Given the description of an element on the screen output the (x, y) to click on. 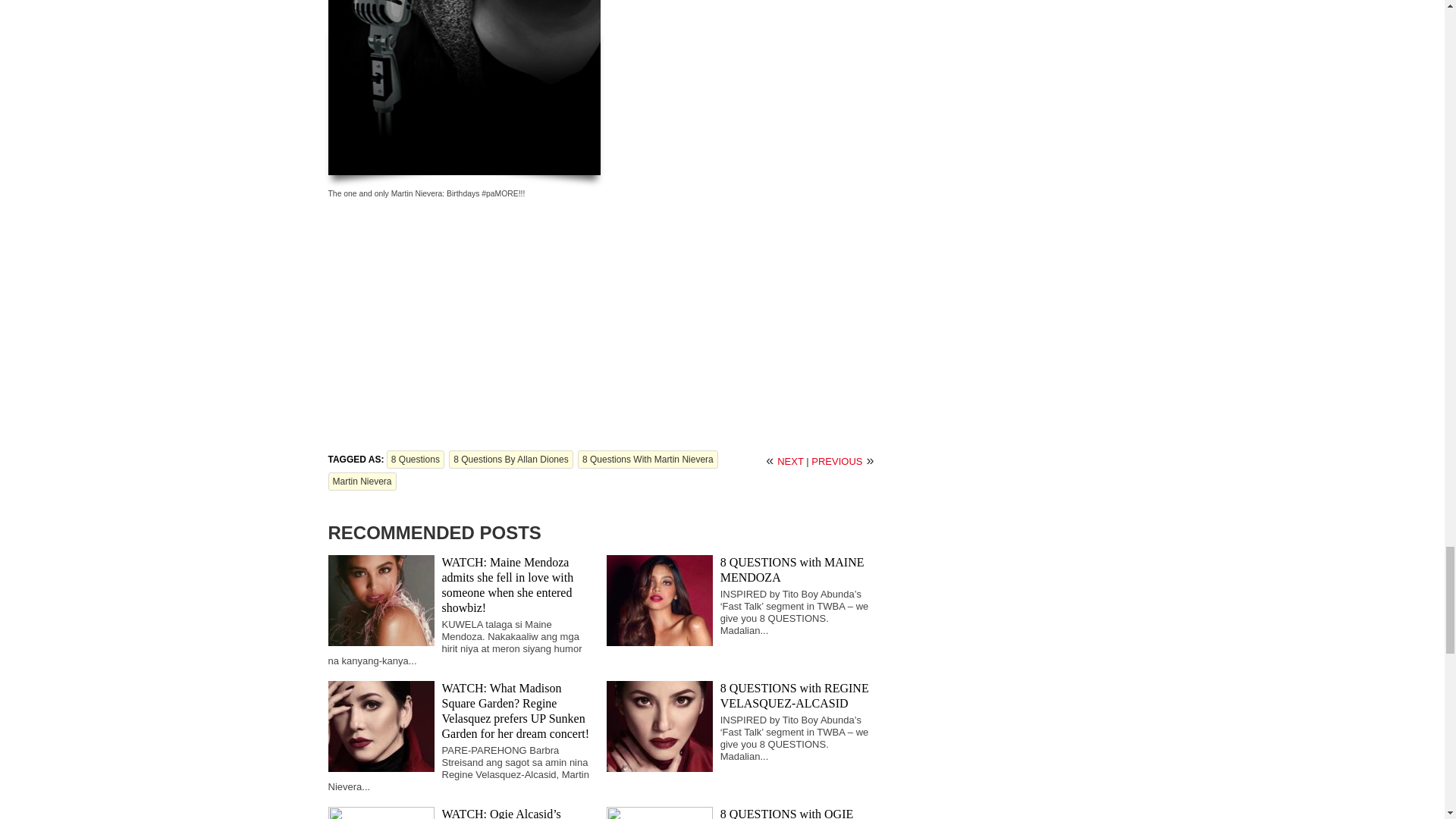
8 QUESTIONS with MAINE MENDOZA (792, 569)
8 QUESTIONS with REGINE VELASQUEZ-ALCASID (794, 695)
8 QUESTIONS with OGIE ALCASID (786, 813)
